Given the description of an element on the screen output the (x, y) to click on. 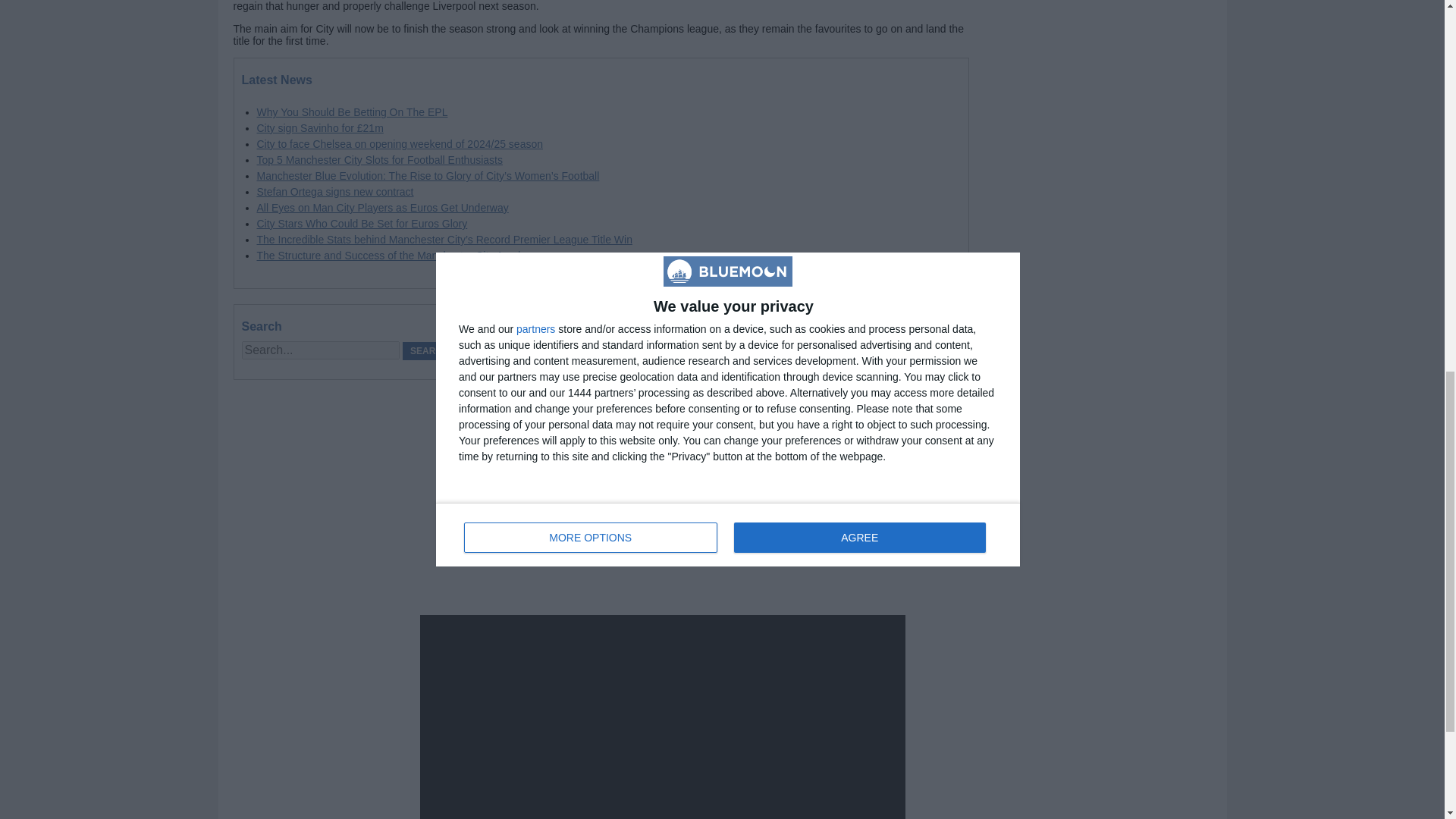
SEARCH (430, 351)
